Given the description of an element on the screen output the (x, y) to click on. 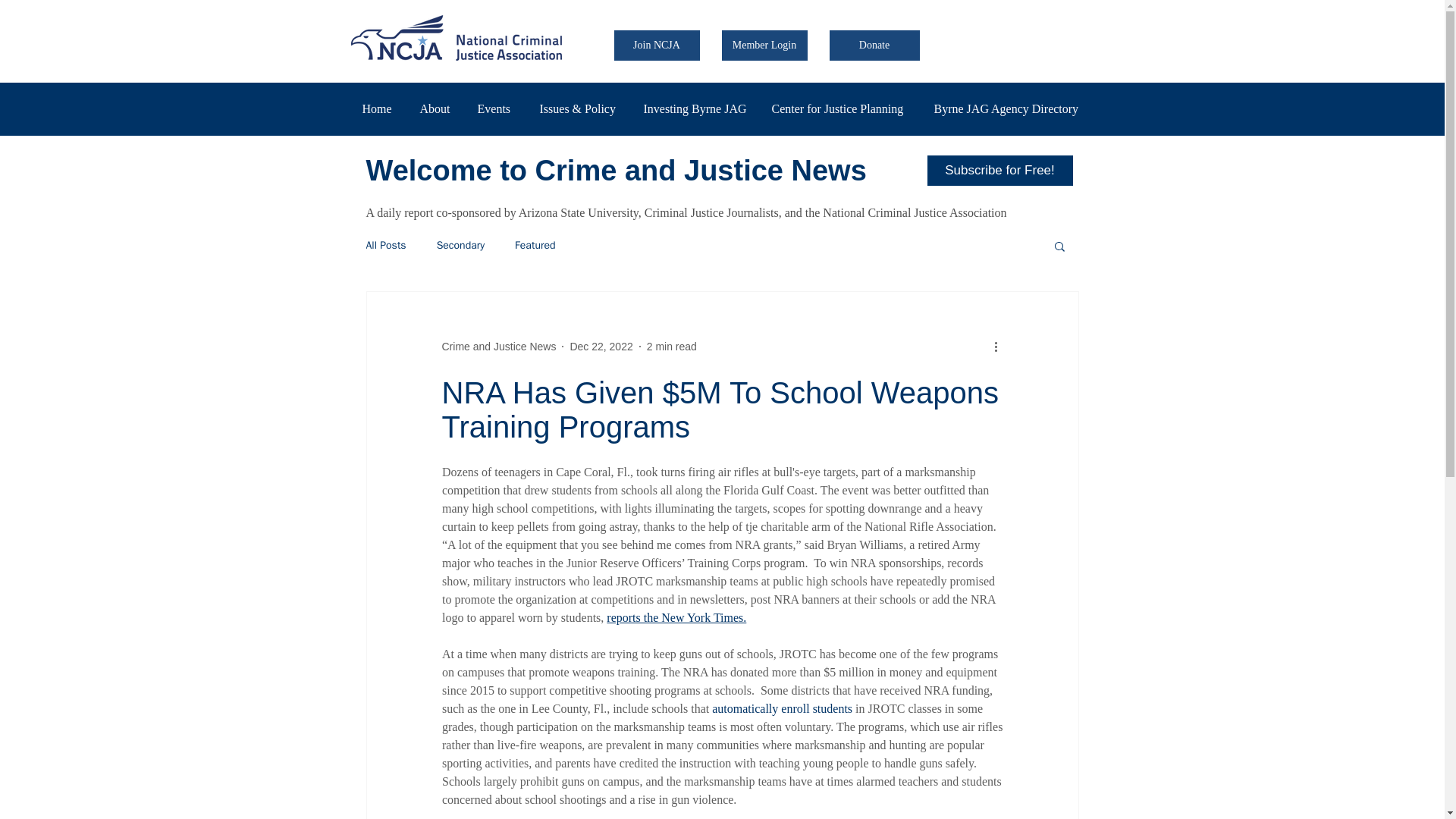
Donate (874, 45)
About (436, 108)
Investing Byrne JAG (695, 108)
Member Login (765, 45)
Join NCJA (657, 45)
Home (378, 108)
Crime and Justice News (498, 346)
2 min read (671, 346)
Center for Justice Planning (840, 108)
Dec 22, 2022 (600, 346)
Events (496, 108)
